Given the description of an element on the screen output the (x, y) to click on. 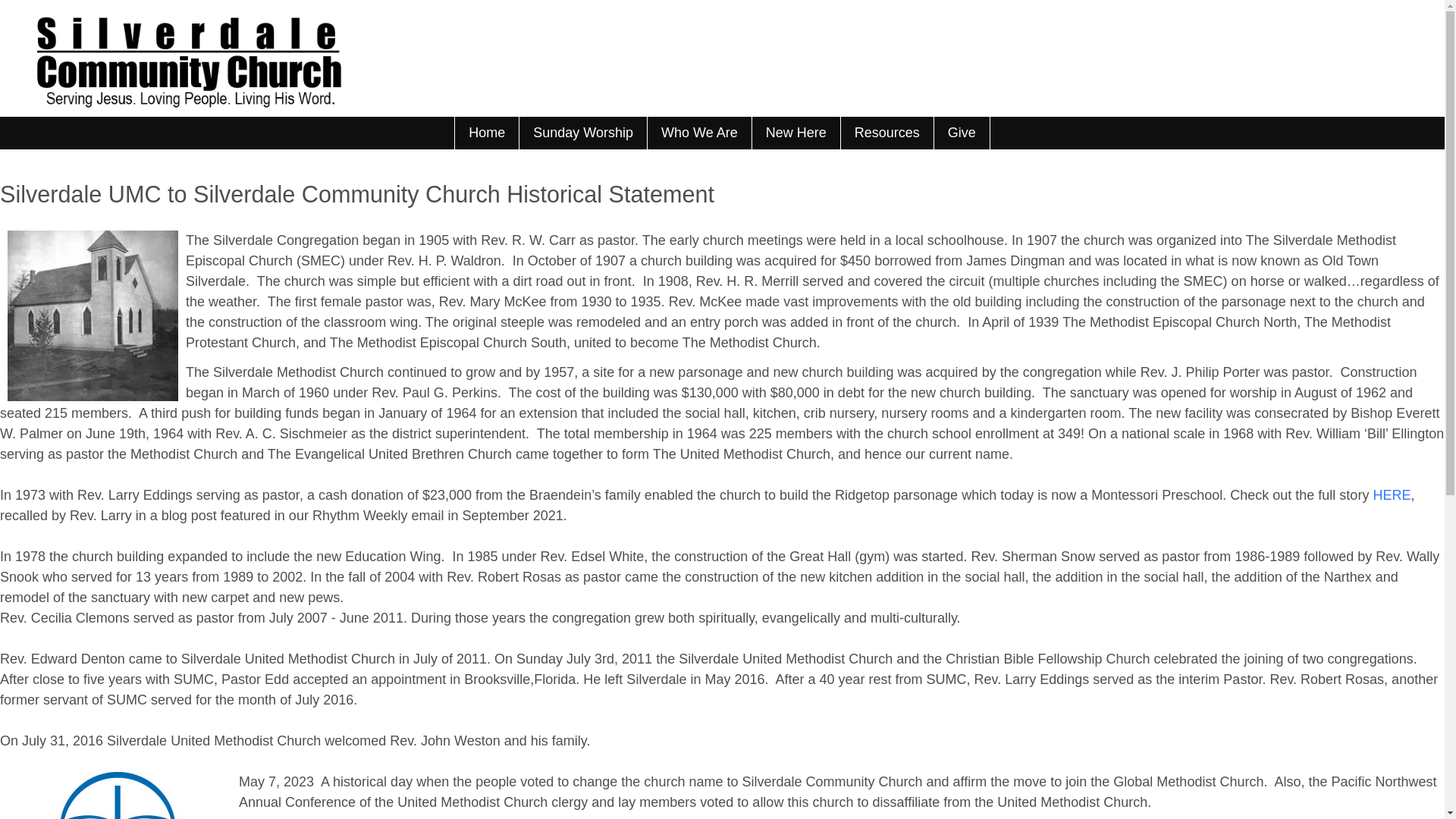
Give (961, 133)
HERE (1391, 494)
New Here (795, 133)
Sunday Worship (582, 133)
Who We Are (698, 133)
Resources (886, 133)
Home (486, 133)
